Given the description of an element on the screen output the (x, y) to click on. 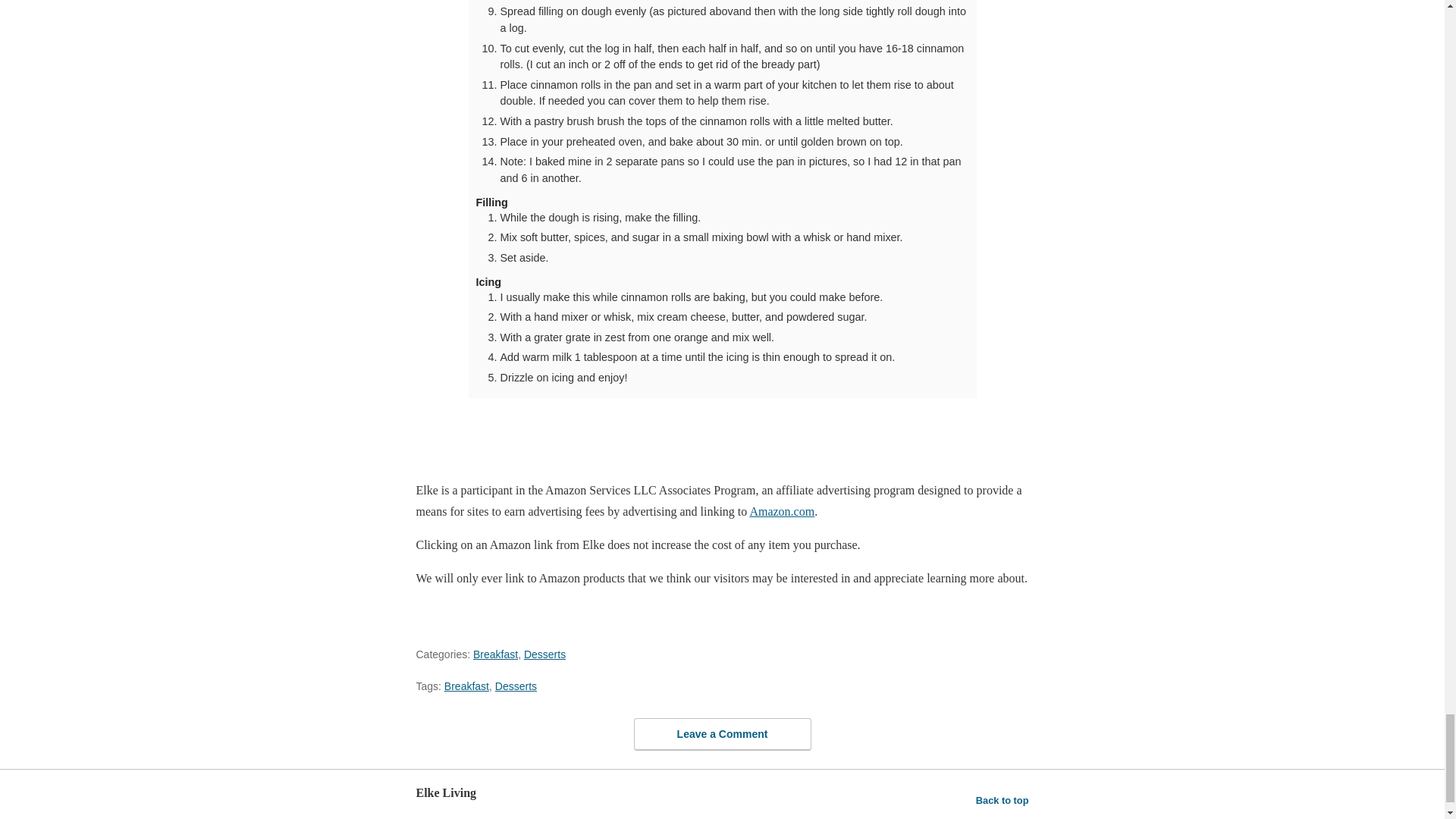
Back to top (1002, 800)
Desserts (516, 686)
Breakfast (466, 686)
Breakfast (495, 654)
Amazon.com (781, 511)
Leave a Comment (721, 734)
Desserts (545, 654)
